Given the description of an element on the screen output the (x, y) to click on. 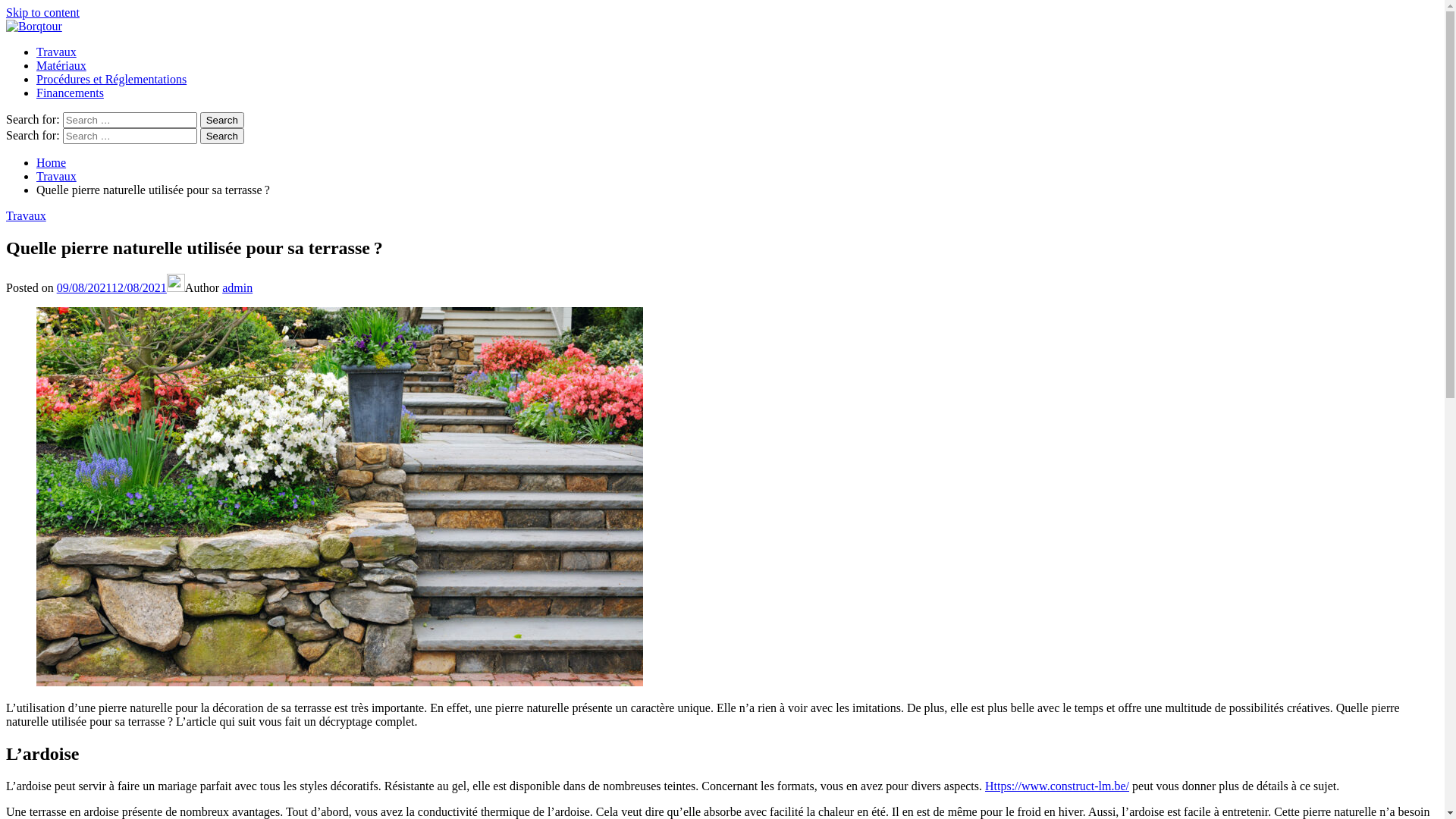
Travaux Element type: text (56, 51)
Skip to content Element type: text (42, 12)
Home Element type: text (50, 162)
Search Element type: text (222, 120)
Financements Element type: text (69, 92)
Https://www.construct-lm.be/ Element type: text (1057, 785)
09/08/202112/08/2021 Element type: text (111, 287)
Travaux Element type: text (26, 215)
Travaux Element type: text (56, 175)
admin Element type: text (237, 287)
Search Element type: text (222, 136)
